Given the description of an element on the screen output the (x, y) to click on. 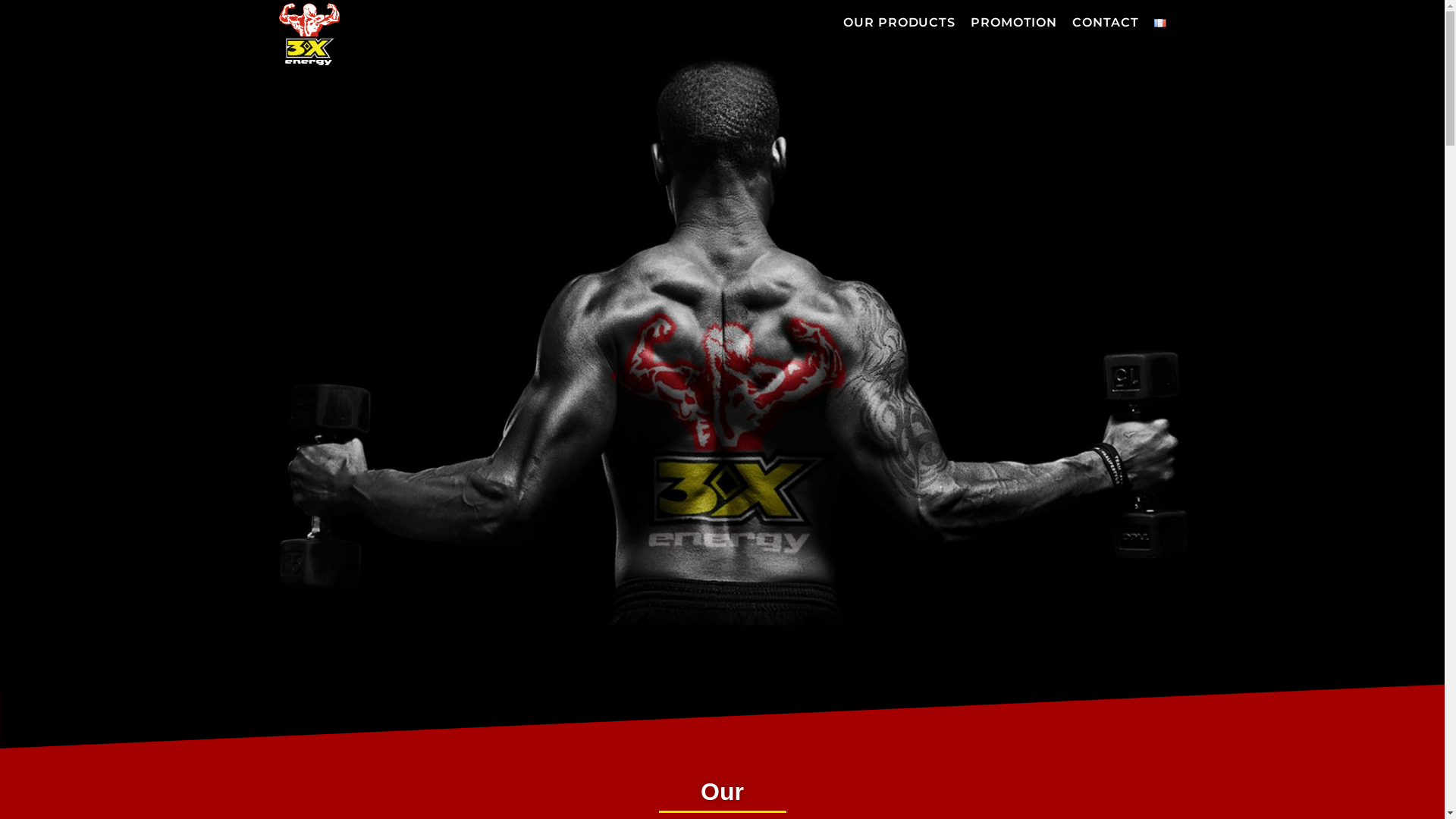
PROMOTION Element type: text (1013, 22)
CONTACT Element type: text (1105, 22)
OUR PRODUCTS Element type: text (899, 22)
3x-energy Element type: hover (309, 33)
Skip to content Element type: text (15, 31)
